Given the description of an element on the screen output the (x, y) to click on. 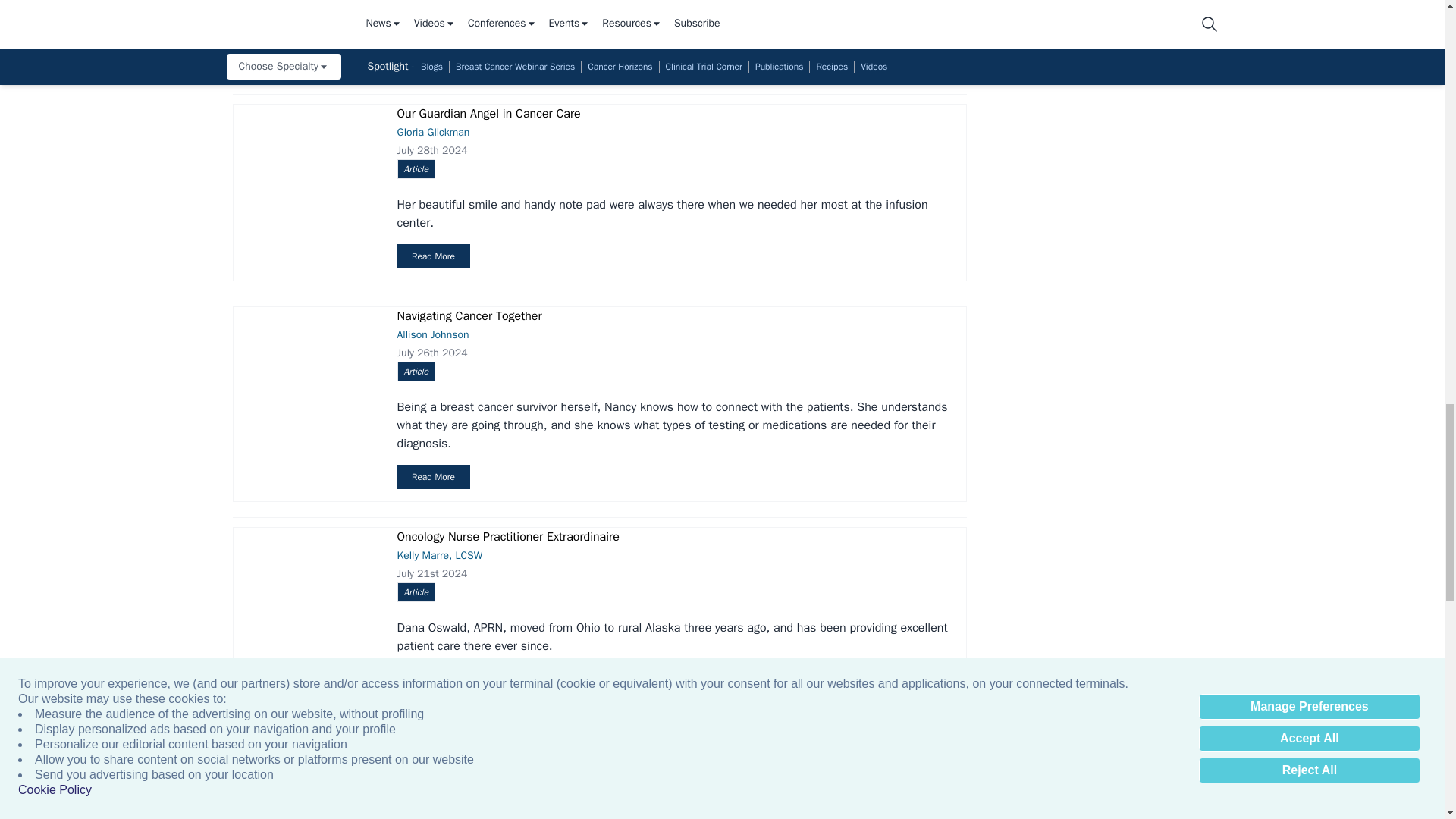
oncology nurse holding patient's hand (305, 573)
nurse holding patient's hand  (305, 352)
Image of two women sitting on a bench outside. (305, 777)
doctor talking to patient (305, 159)
